Given the description of an element on the screen output the (x, y) to click on. 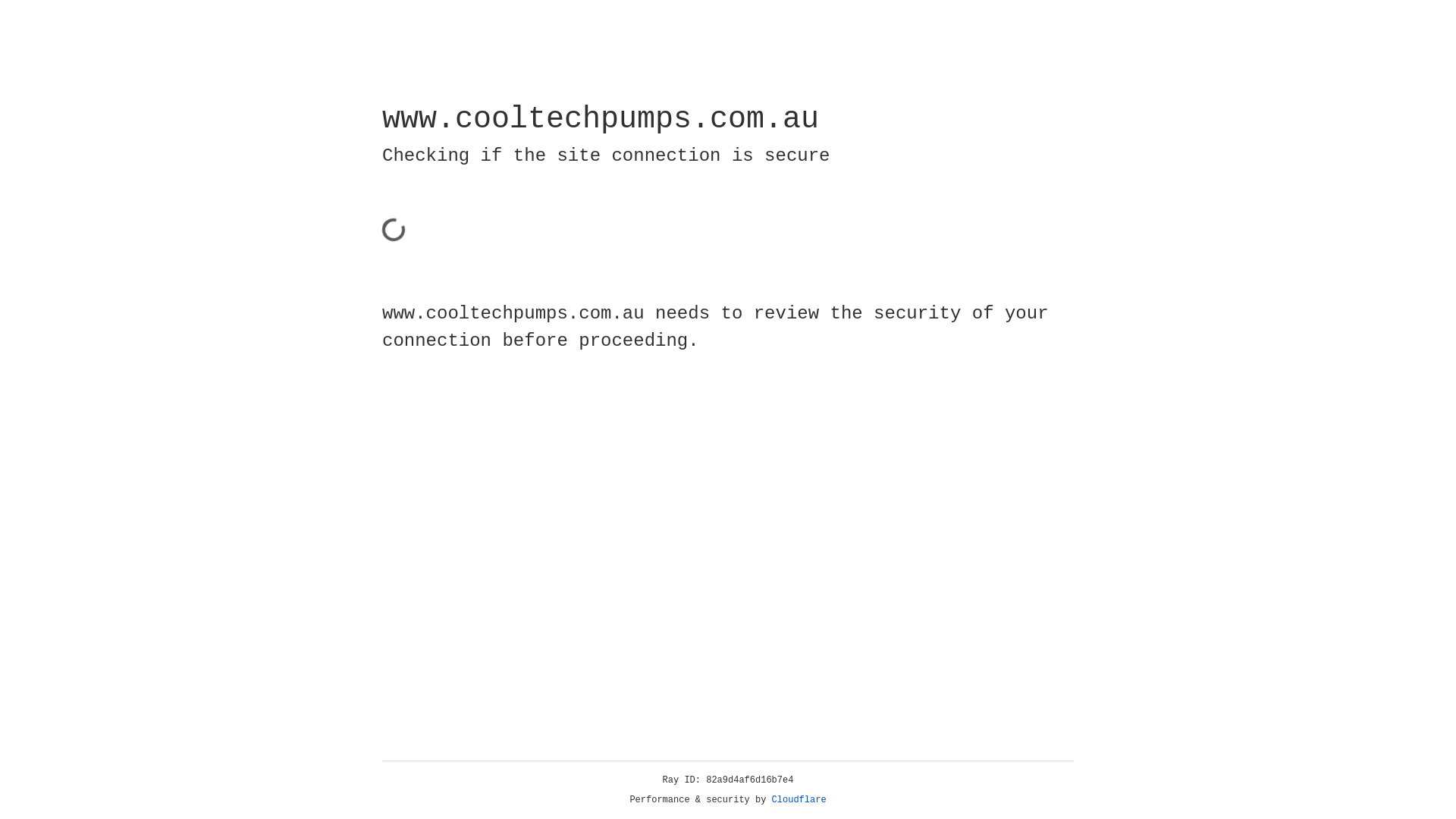
Cloudflare Element type: text (798, 799)
